Given the description of an element on the screen output the (x, y) to click on. 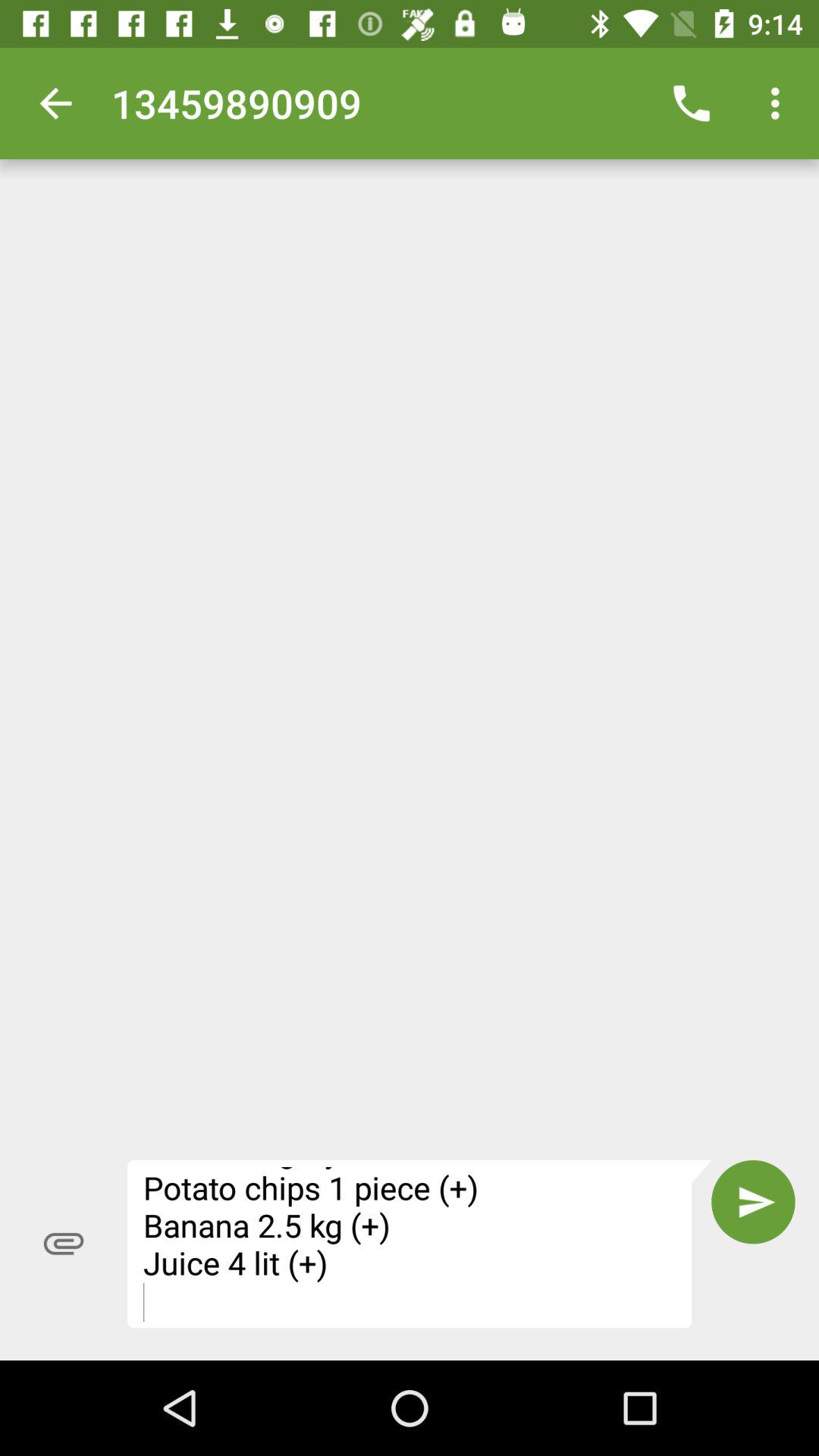
launch the icon next to 13459890909 icon (691, 103)
